Given the description of an element on the screen output the (x, y) to click on. 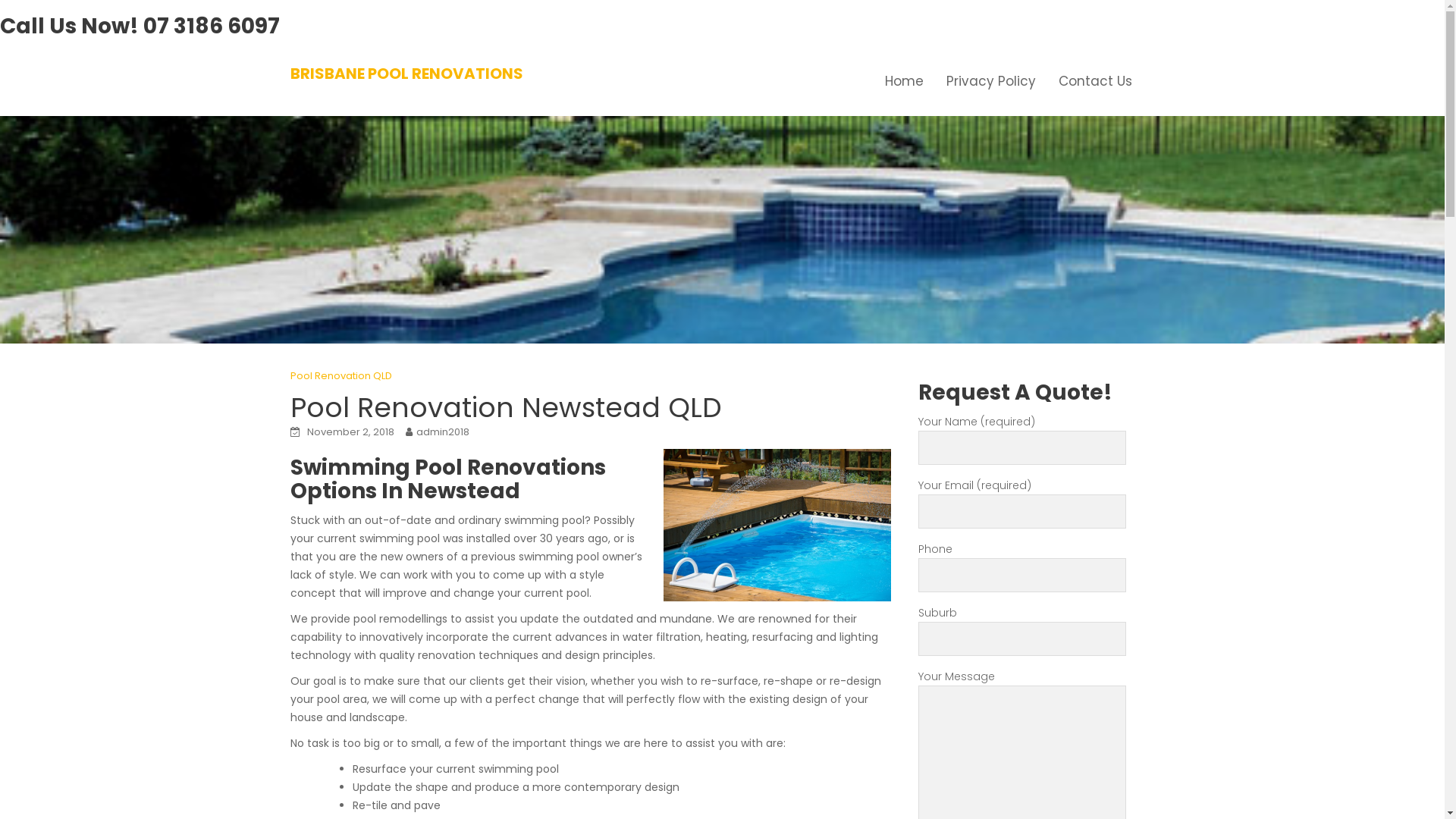
BRISBANE POOL RENOVATIONS Element type: text (405, 73)
07 3186 6097 Element type: text (211, 25)
Home Element type: text (904, 81)
Privacy Policy Element type: text (990, 81)
November 2, 2018 Element type: text (349, 431)
Contact Us Element type: text (1094, 81)
Pool Renovation QLD Element type: text (340, 375)
admin2018 Element type: text (441, 431)
